Given the description of an element on the screen output the (x, y) to click on. 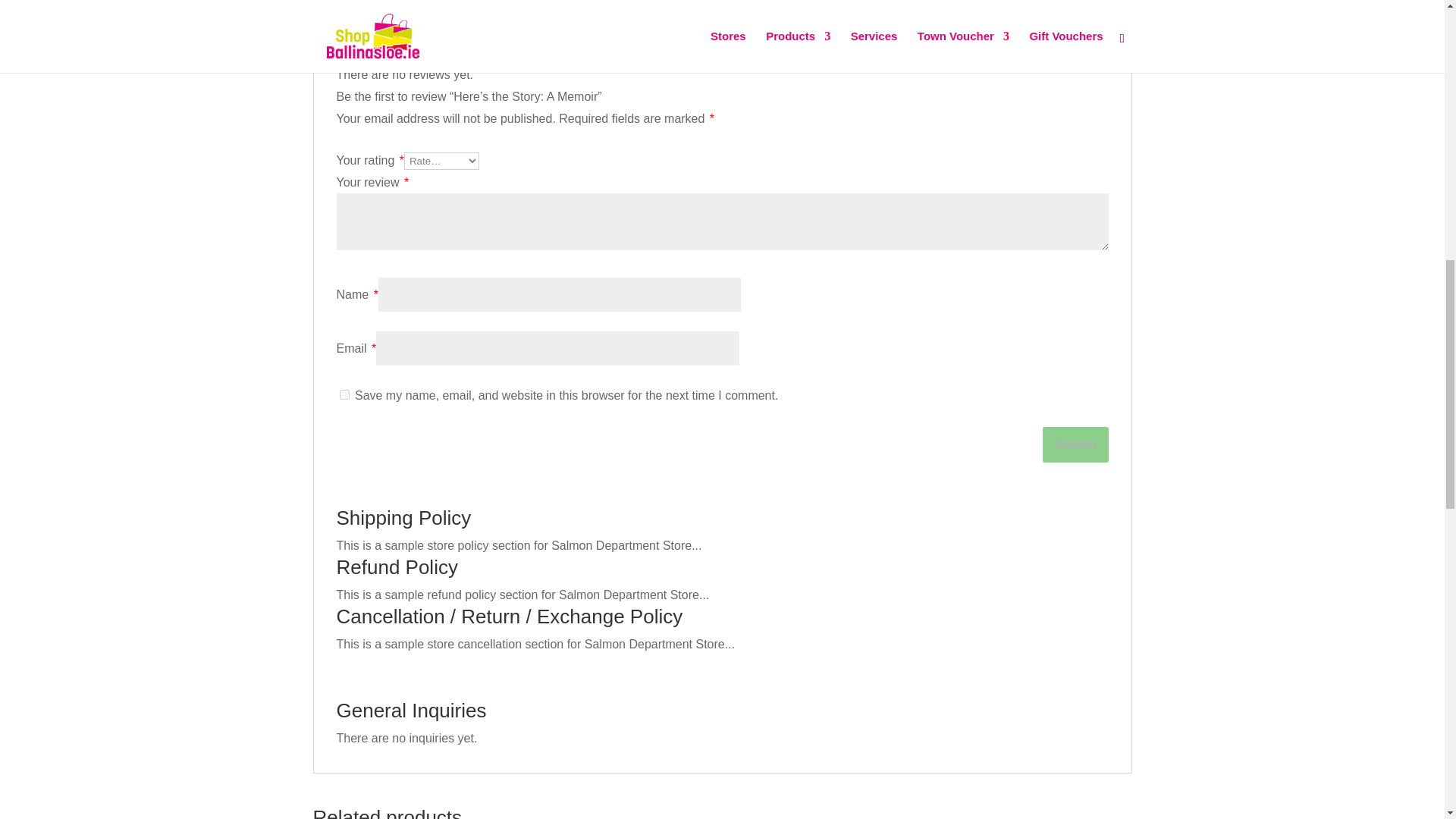
Submit (1075, 444)
yes (344, 394)
